Given the description of an element on the screen output the (x, y) to click on. 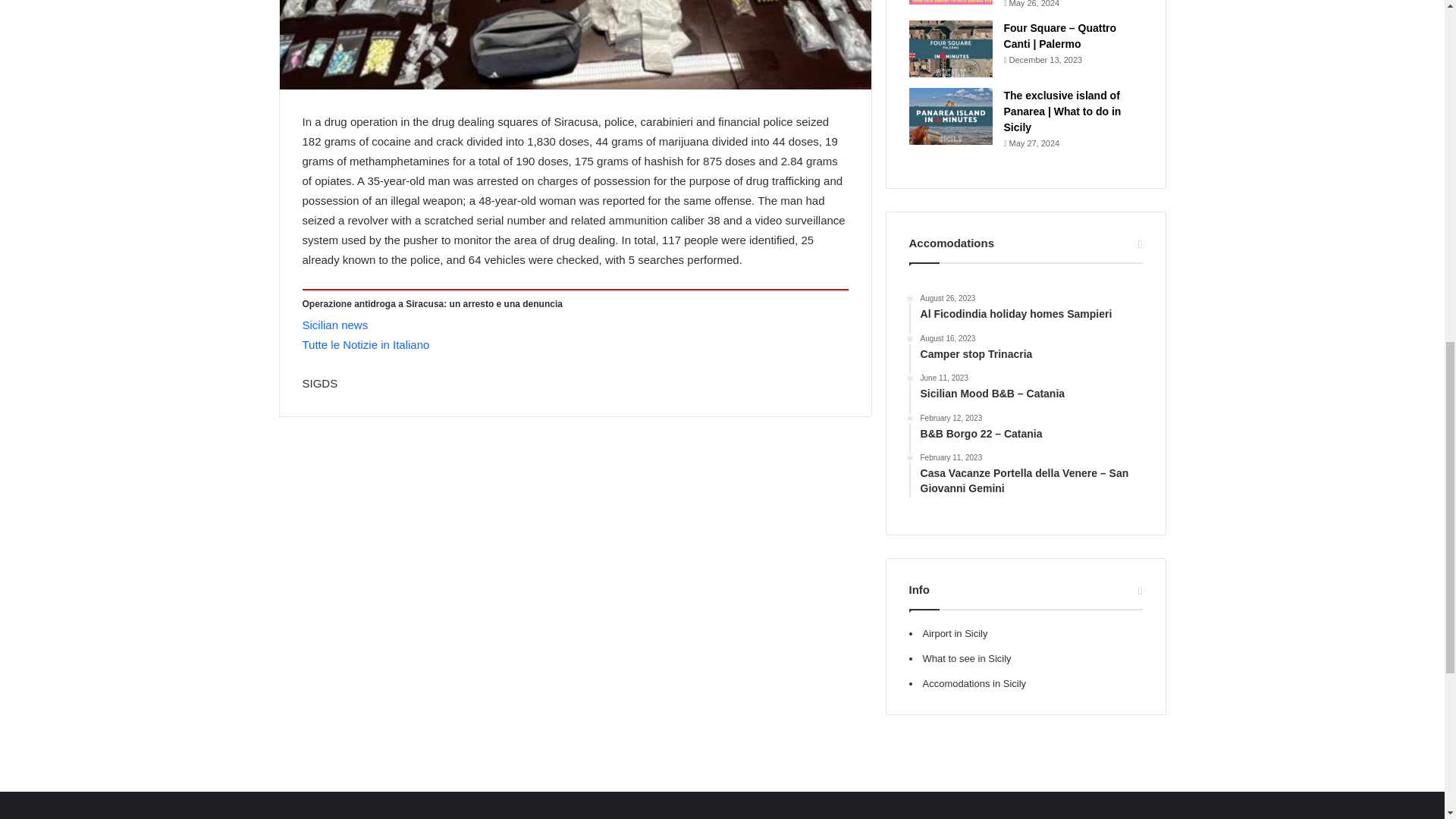
Sicilian news (1031, 308)
Tutte le Notizie in Italiano (334, 324)
